Given the description of an element on the screen output the (x, y) to click on. 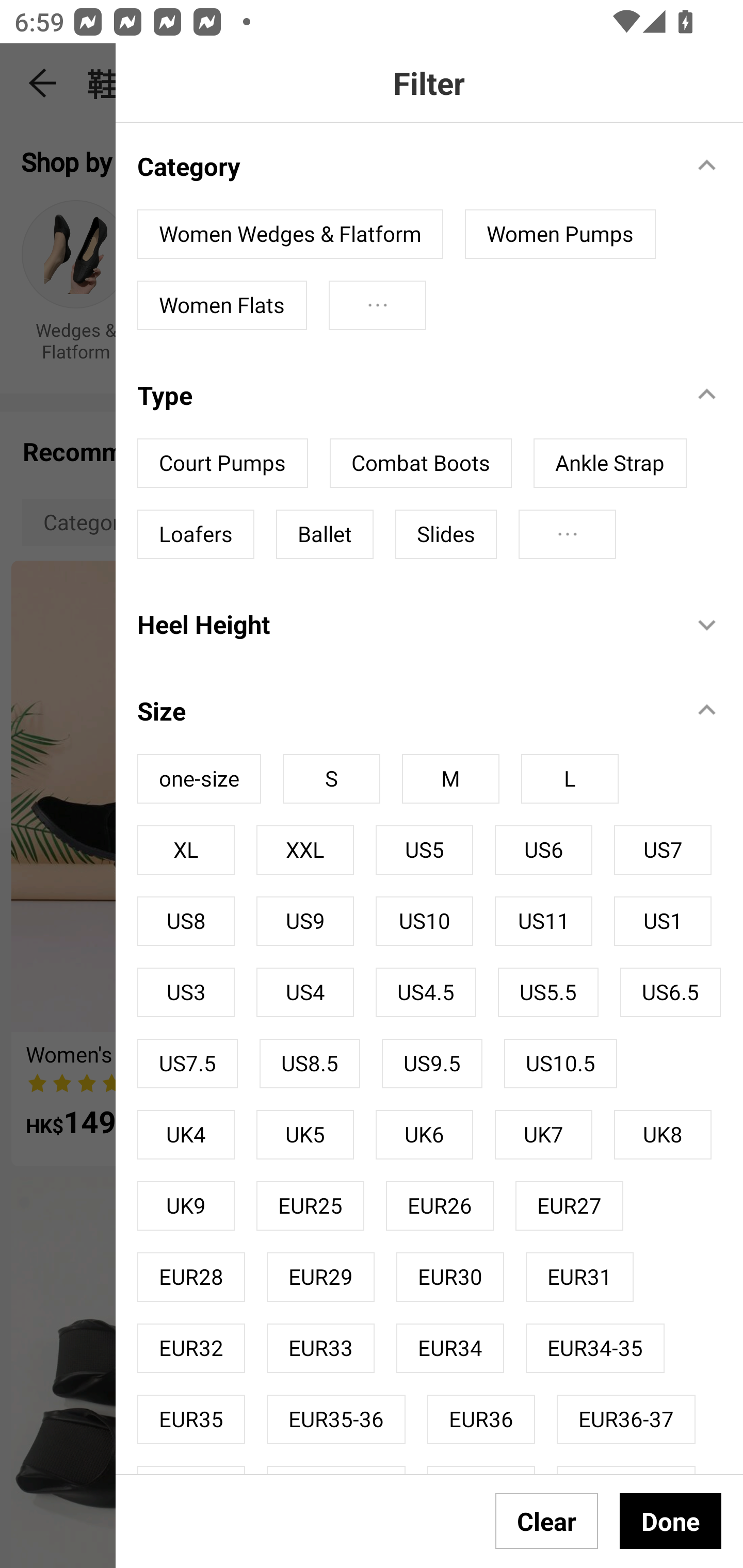
Category (403, 166)
Women Wedges & Flatform (290, 234)
Women Pumps (560, 234)
Women Flats (221, 305)
Type (403, 395)
Court Pumps (222, 463)
Combat Boots (420, 463)
Ankle Strap (609, 463)
Loafers (195, 534)
Ballet (324, 534)
Slides (446, 534)
Heel Height (403, 624)
Size (403, 710)
one-size (198, 778)
S (331, 778)
M (450, 778)
L (569, 778)
XL (185, 849)
XXL (304, 849)
US5 (424, 849)
US6 (543, 849)
US7 (662, 849)
US8 (185, 920)
US9 (304, 920)
US10 (424, 920)
US11 (543, 920)
US1 (662, 920)
US3 (185, 992)
US4 (304, 992)
US4.5 (425, 992)
US5.5 (547, 992)
US6.5 (670, 992)
US7.5 (187, 1063)
US8.5 (309, 1063)
US9.5 (431, 1063)
US10.5 (560, 1063)
UK4 (185, 1134)
UK5 (304, 1134)
UK6 (424, 1134)
UK7 (543, 1134)
UK8 (662, 1134)
UK9 (185, 1205)
EUR25 (310, 1205)
EUR26 (439, 1205)
EUR27 (569, 1205)
EUR28 (191, 1276)
EUR29 (320, 1276)
EUR30 (449, 1276)
EUR31 (579, 1276)
EUR32 (191, 1348)
EUR33 (320, 1348)
EUR34 (449, 1348)
EUR34-35 (595, 1348)
EUR35 (191, 1418)
EUR35-36 (335, 1418)
EUR36 (480, 1418)
EUR36-37 (625, 1418)
Clear (546, 1520)
Done (670, 1520)
